Given the description of an element on the screen output the (x, y) to click on. 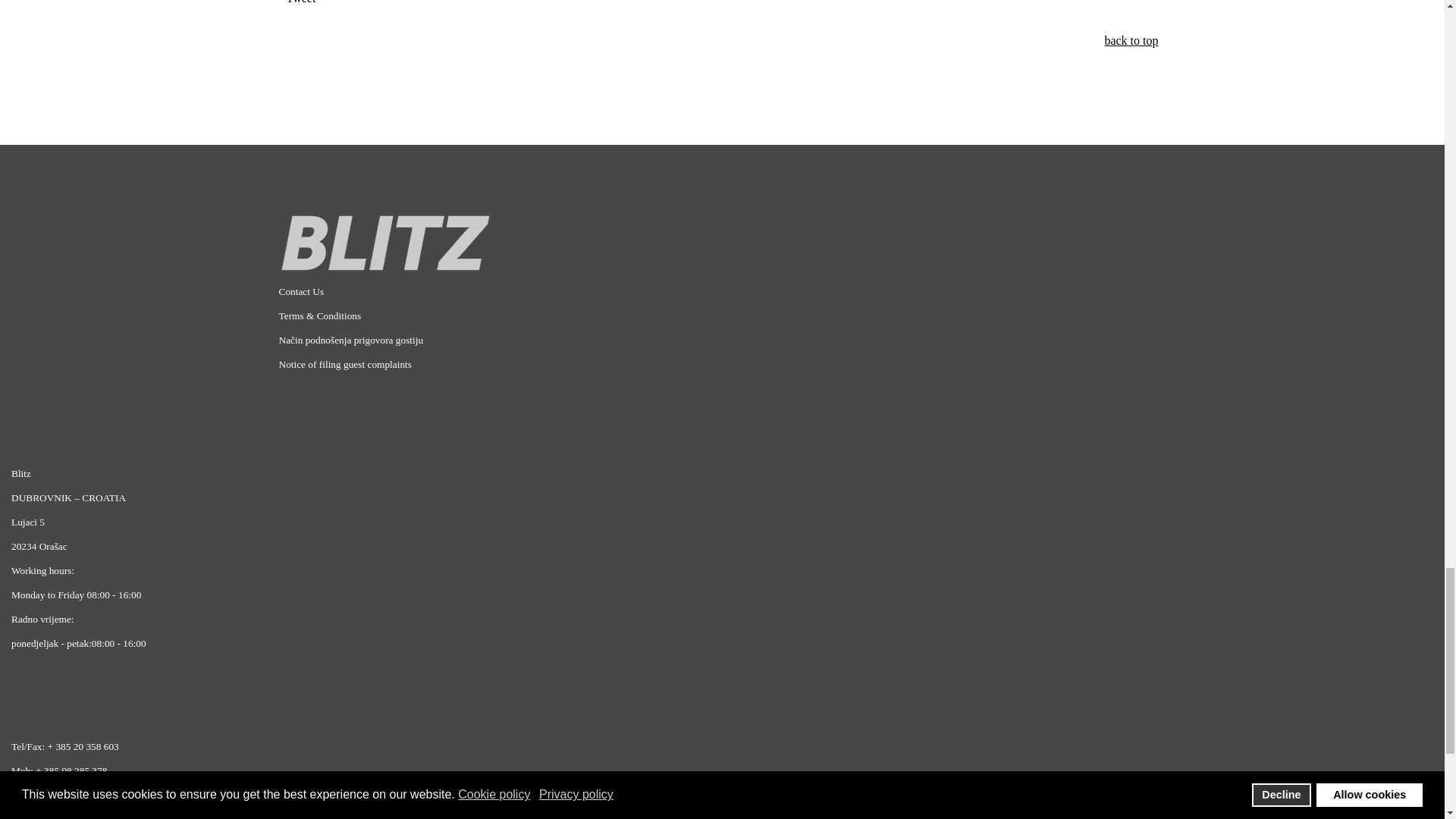
Notice of filing guest complaints (345, 364)
Contact Us (301, 291)
back to top (1130, 40)
Tweet (300, 2)
